Given the description of an element on the screen output the (x, y) to click on. 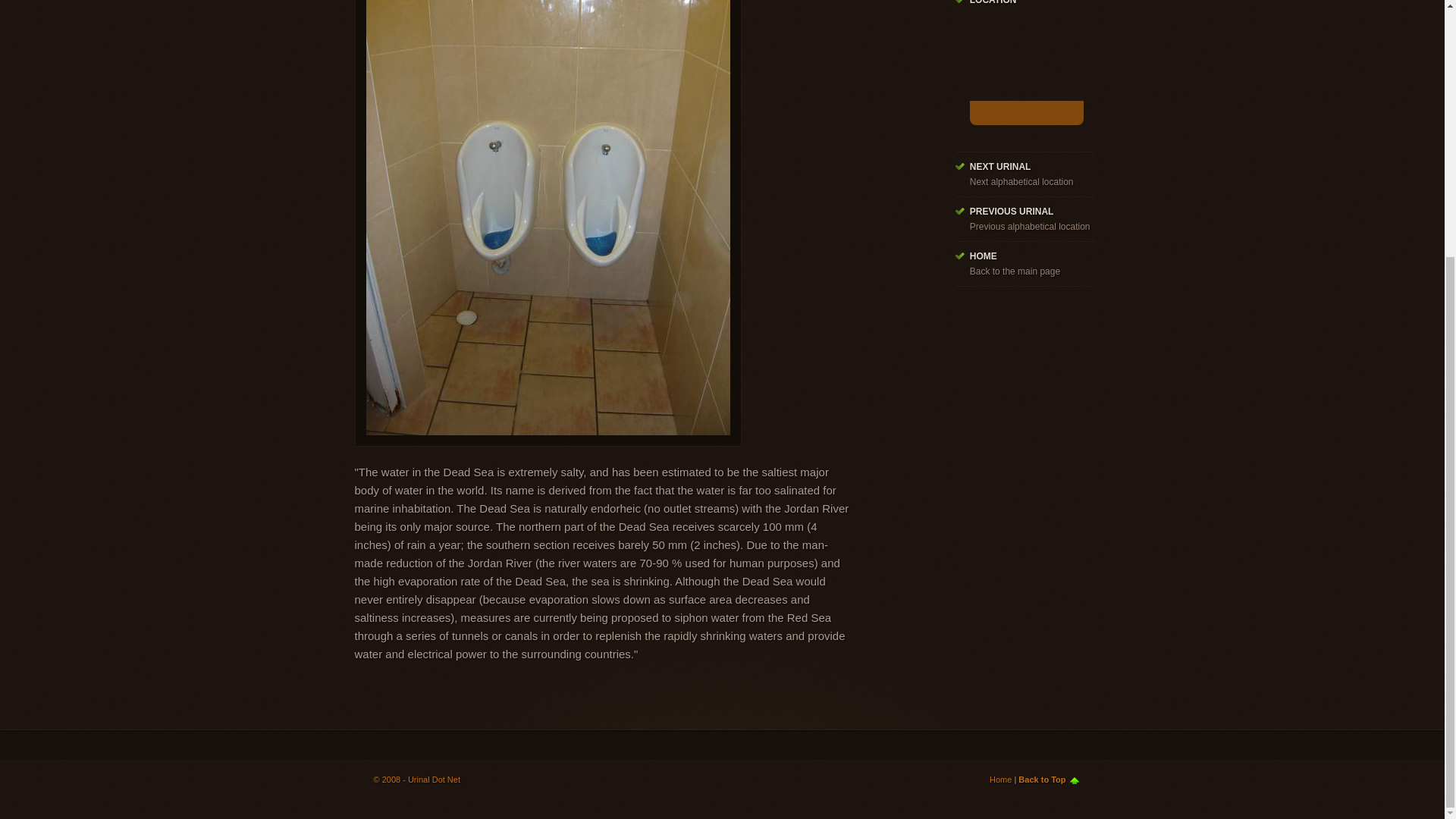
Back to Top (1047, 778)
Home (1000, 778)
PREVIOUS URINAL (1011, 211)
LOCATION (992, 2)
Click for map (1026, 72)
NEXT URINAL (999, 166)
HOME (983, 255)
Click for map (1026, 112)
